Given the description of an element on the screen output the (x, y) to click on. 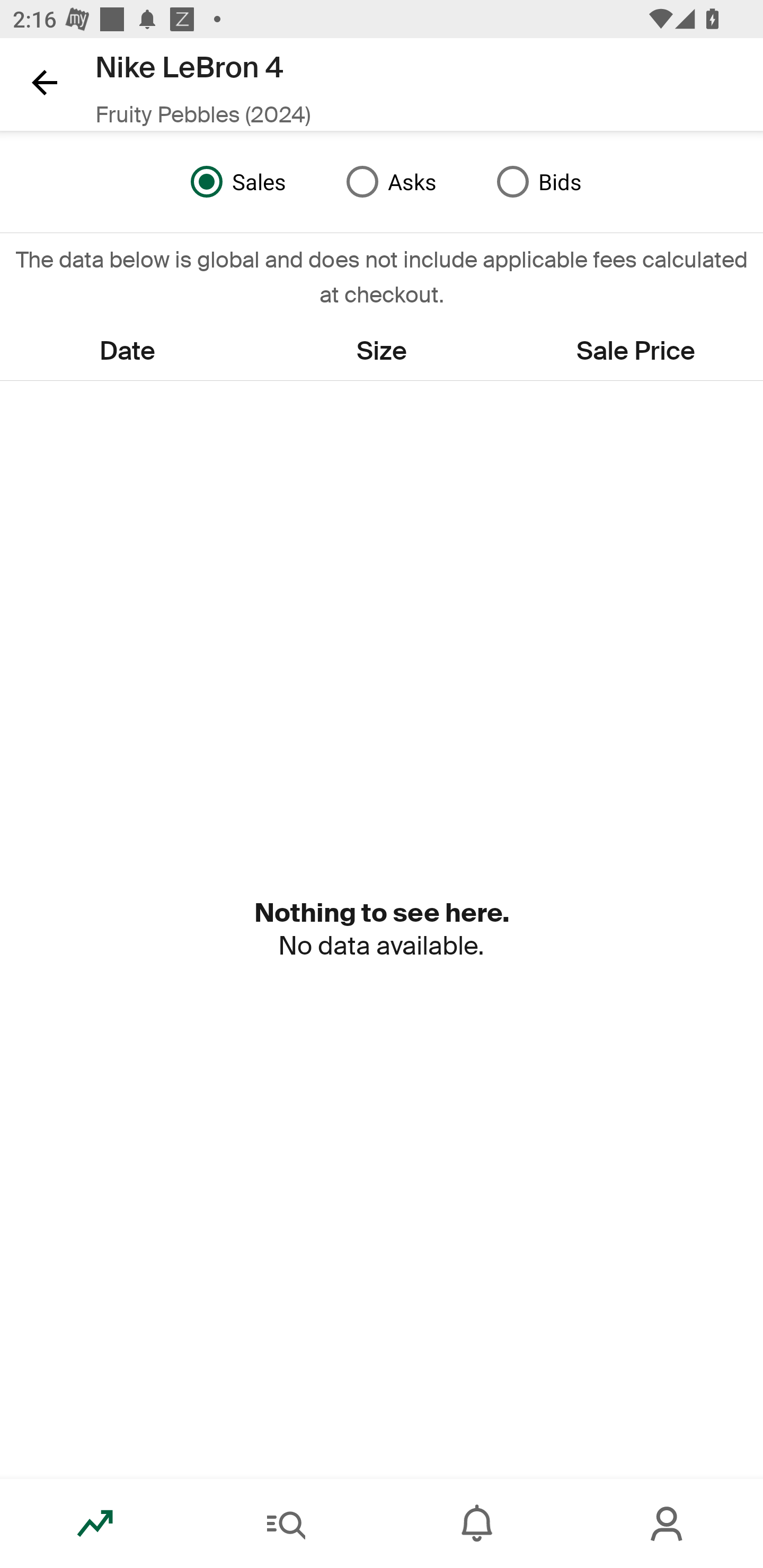
Sales (233, 181)
Asks (386, 181)
Bids (534, 181)
Search (285, 1523)
Inbox (476, 1523)
Account (667, 1523)
